Given the description of an element on the screen output the (x, y) to click on. 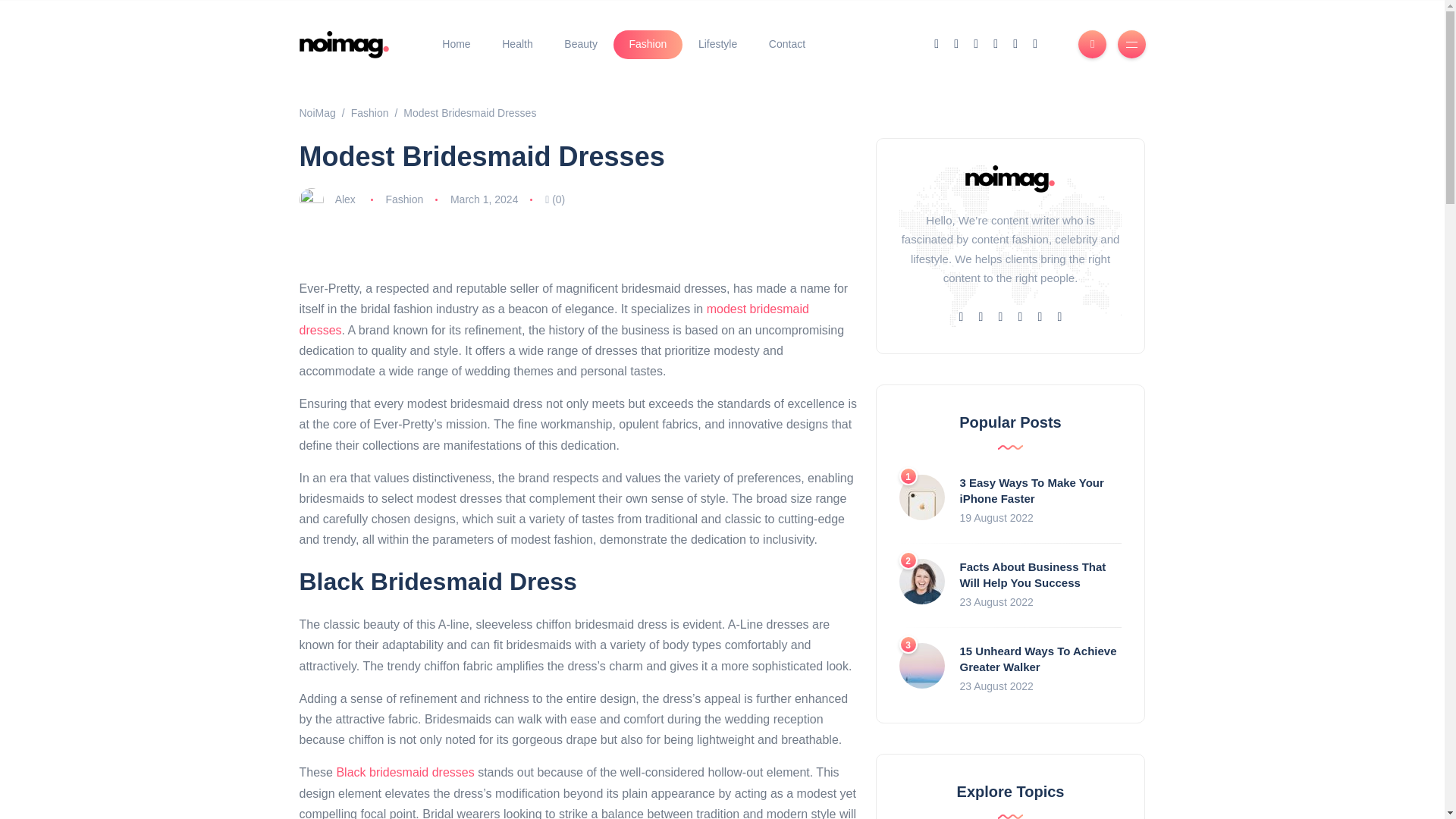
Go to the Fashion Category archives. (369, 112)
NoiMag (316, 112)
Posts by Alex (344, 199)
Alex (344, 199)
Go to NoiMag. (316, 112)
modest bridesmaid dresses (553, 318)
Fashion (369, 112)
Black bridesmaid dresses (405, 771)
Fashion (404, 199)
Contact (786, 44)
Health (517, 44)
Fashion (647, 44)
Home (456, 44)
Beauty (580, 44)
Lifestyle (717, 44)
